Given the description of an element on the screen output the (x, y) to click on. 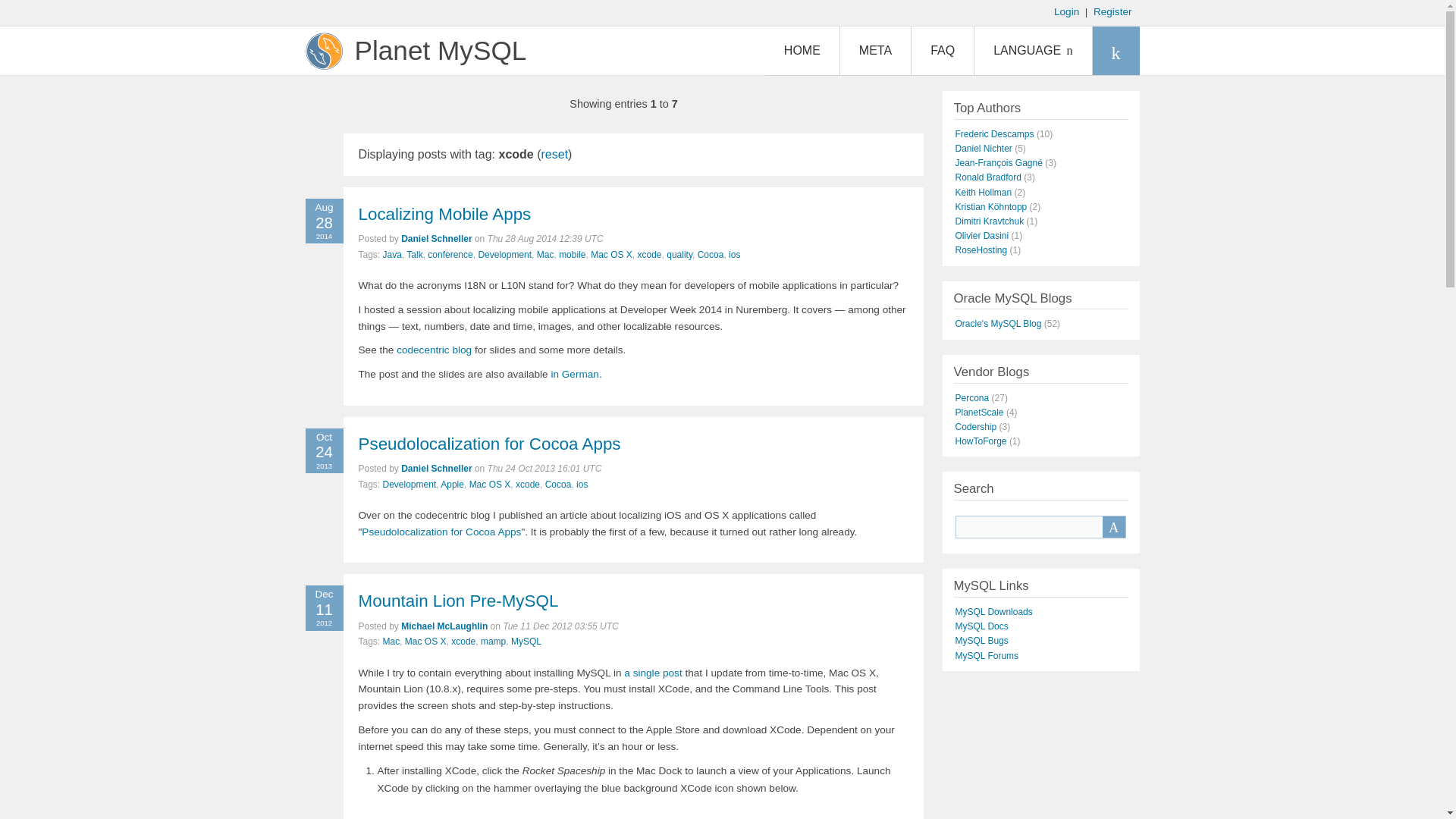
codecentric blog (433, 349)
Cocoa (710, 254)
xcode (649, 254)
Login (1066, 11)
Search (1113, 526)
ios (734, 254)
Daniel Schneller (436, 238)
FAQ (942, 50)
Pseudolocalization for Cocoa Apps (489, 443)
Mac OS X (489, 484)
Apple (452, 484)
Aggregate feed (1115, 50)
Development (409, 484)
Mac (545, 254)
META (875, 50)
